Given the description of an element on the screen output the (x, y) to click on. 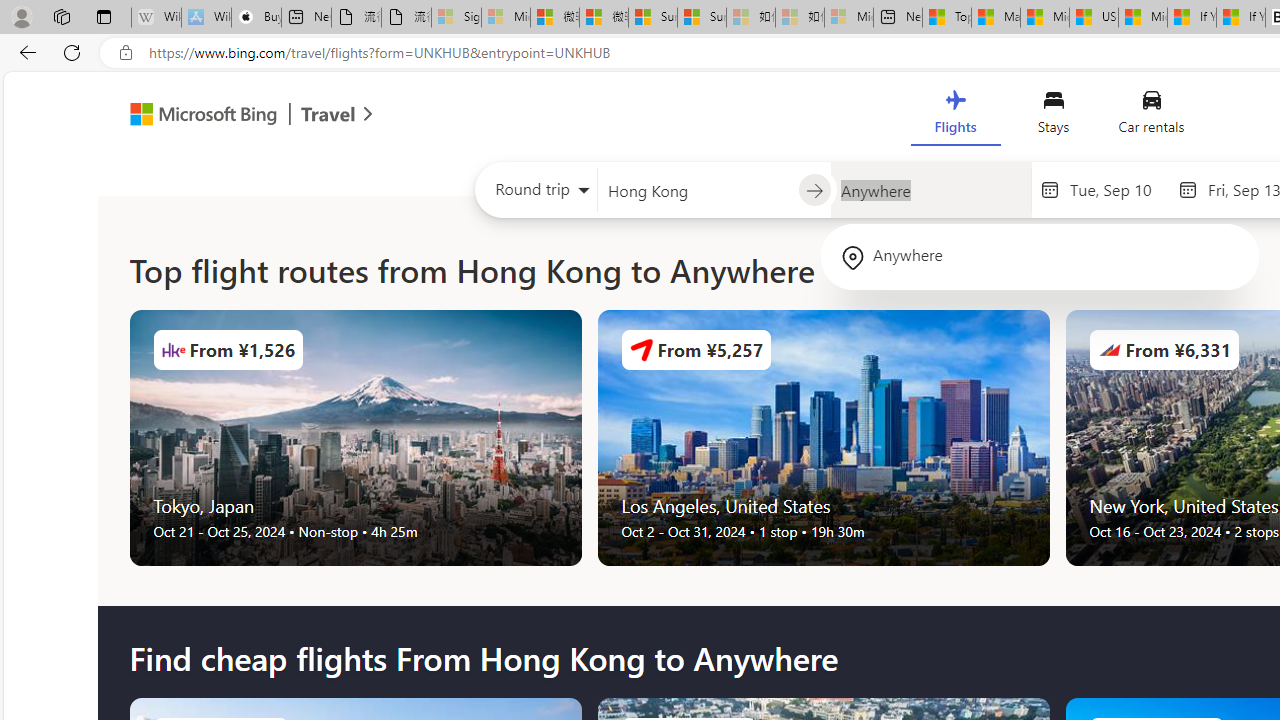
Going to? (930, 190)
Buy iPad - Apple (256, 17)
Microsoft Bing Travel (229, 116)
Microsoft Services Agreement - Sleeping (505, 17)
Airlines Logo (1109, 349)
US Heat Deaths Soared To Record High Last Year (1093, 17)
Select trip type (535, 193)
